Given the description of an element on the screen output the (x, y) to click on. 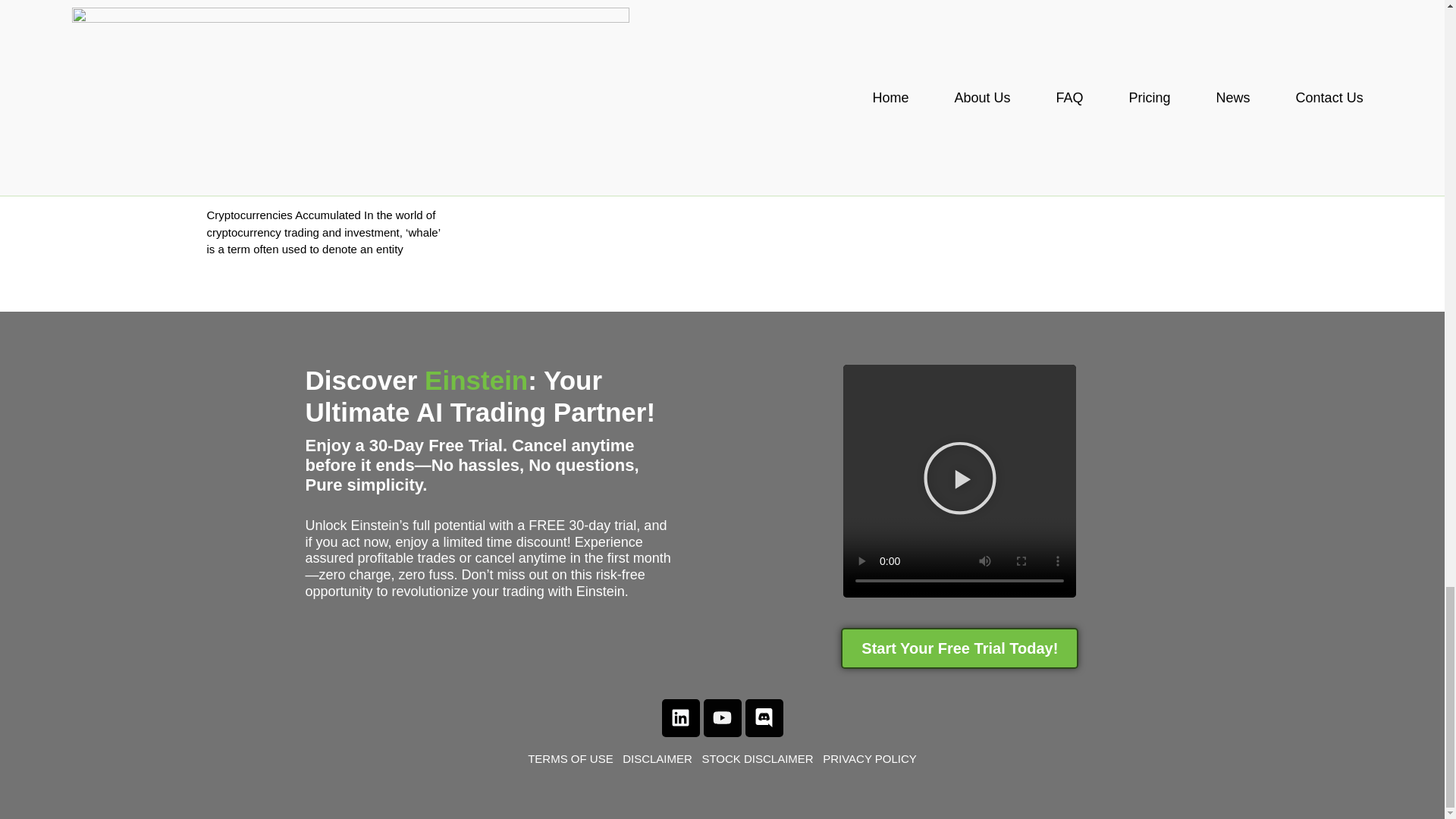
Start Your Free Trial Today! (959, 648)
